Given the description of an element on the screen output the (x, y) to click on. 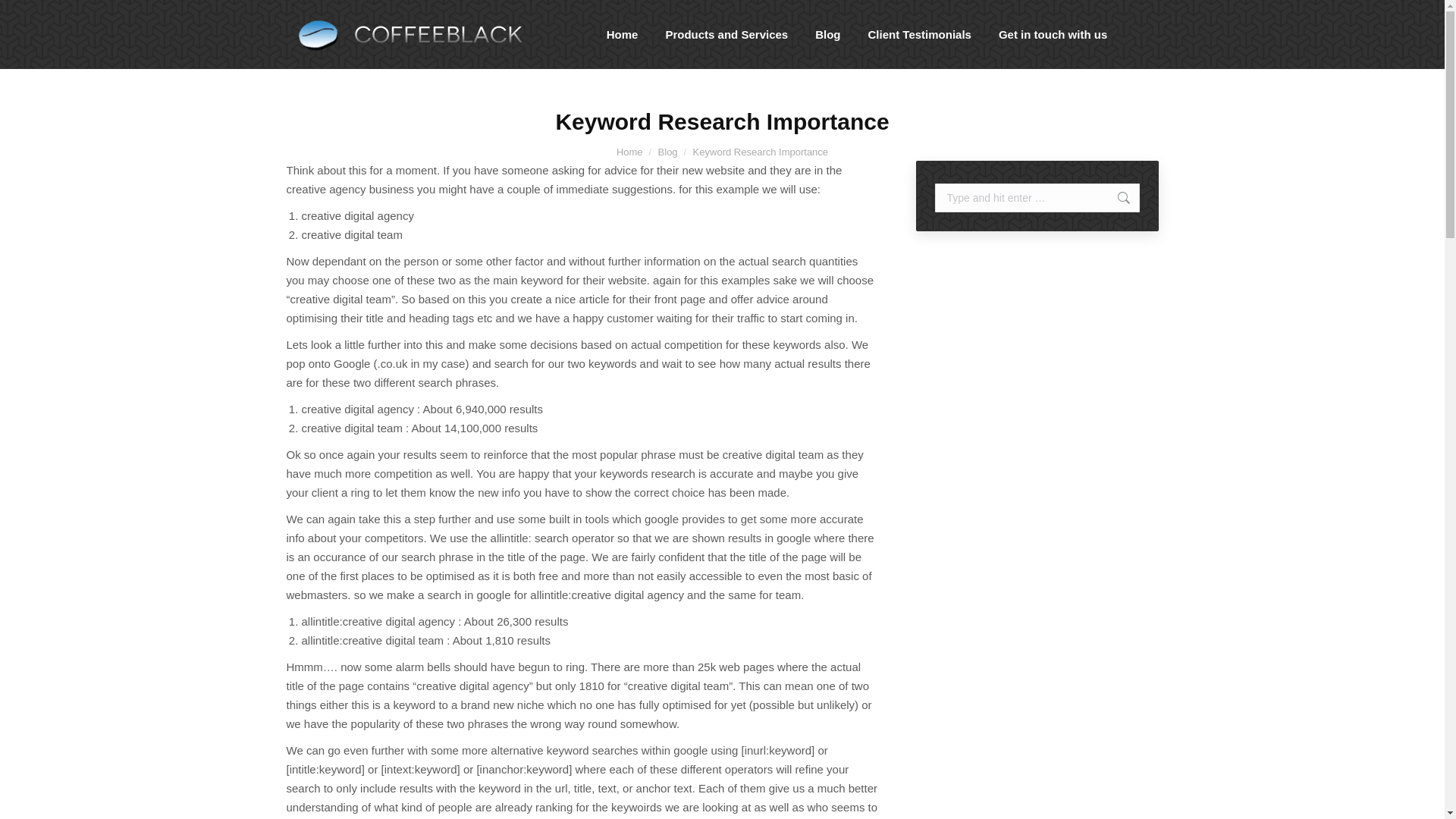
Home (623, 33)
Get in touch with us (1052, 33)
Go! (1115, 197)
Products and Services (726, 33)
Client Testimonials (919, 33)
Go! (1115, 197)
Blog (668, 152)
Home (629, 152)
